Given the description of an element on the screen output the (x, y) to click on. 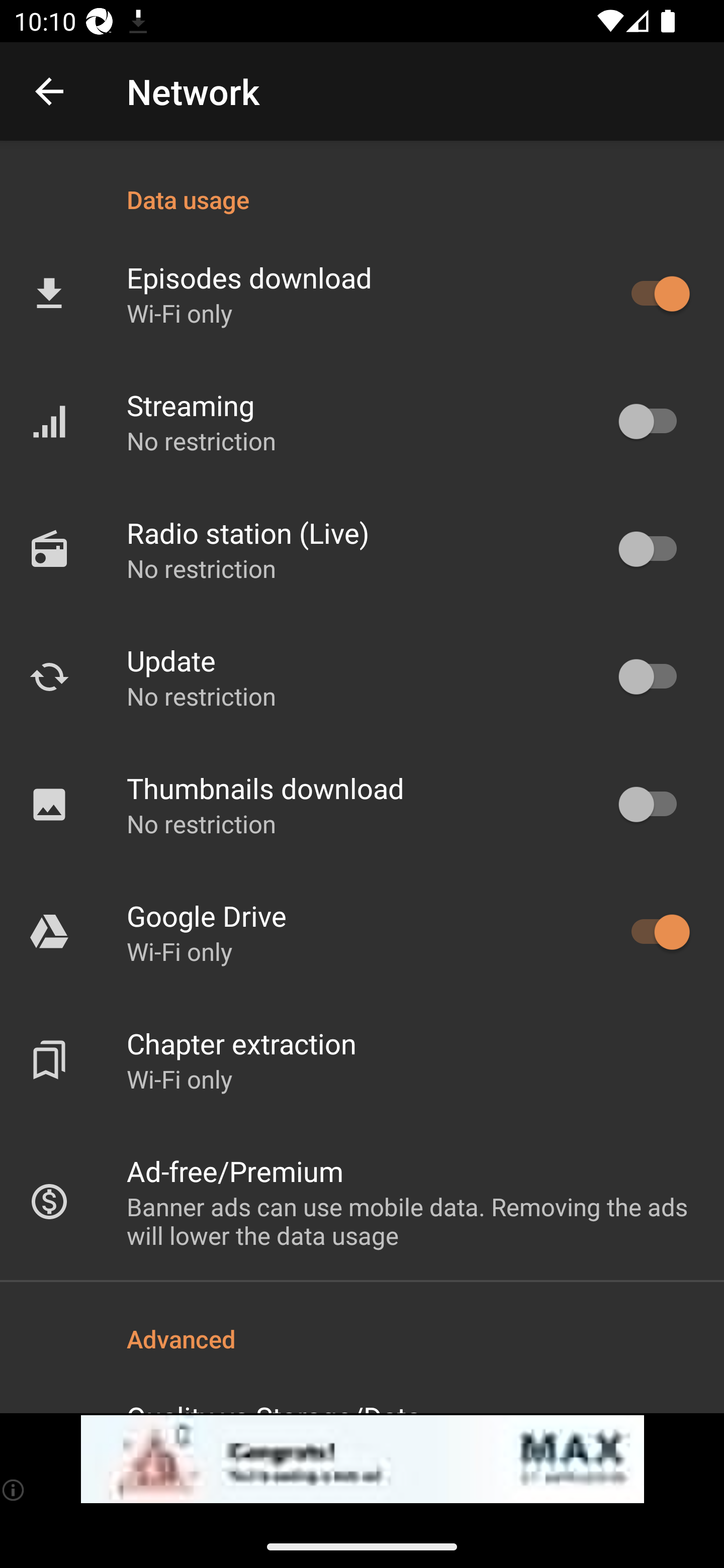
Navigate up (49, 91)
Episodes download Wi-Fi only (362, 293)
Streaming No restriction (362, 421)
Radio station (Live) No restriction (362, 549)
Update No restriction (362, 676)
Thumbnails download No restriction (362, 804)
Google Drive Wi-Fi only (362, 931)
Chapter extraction Wi-Fi only (362, 1059)
app-monetization (362, 1459)
(i) (14, 1489)
